Given the description of an element on the screen output the (x, y) to click on. 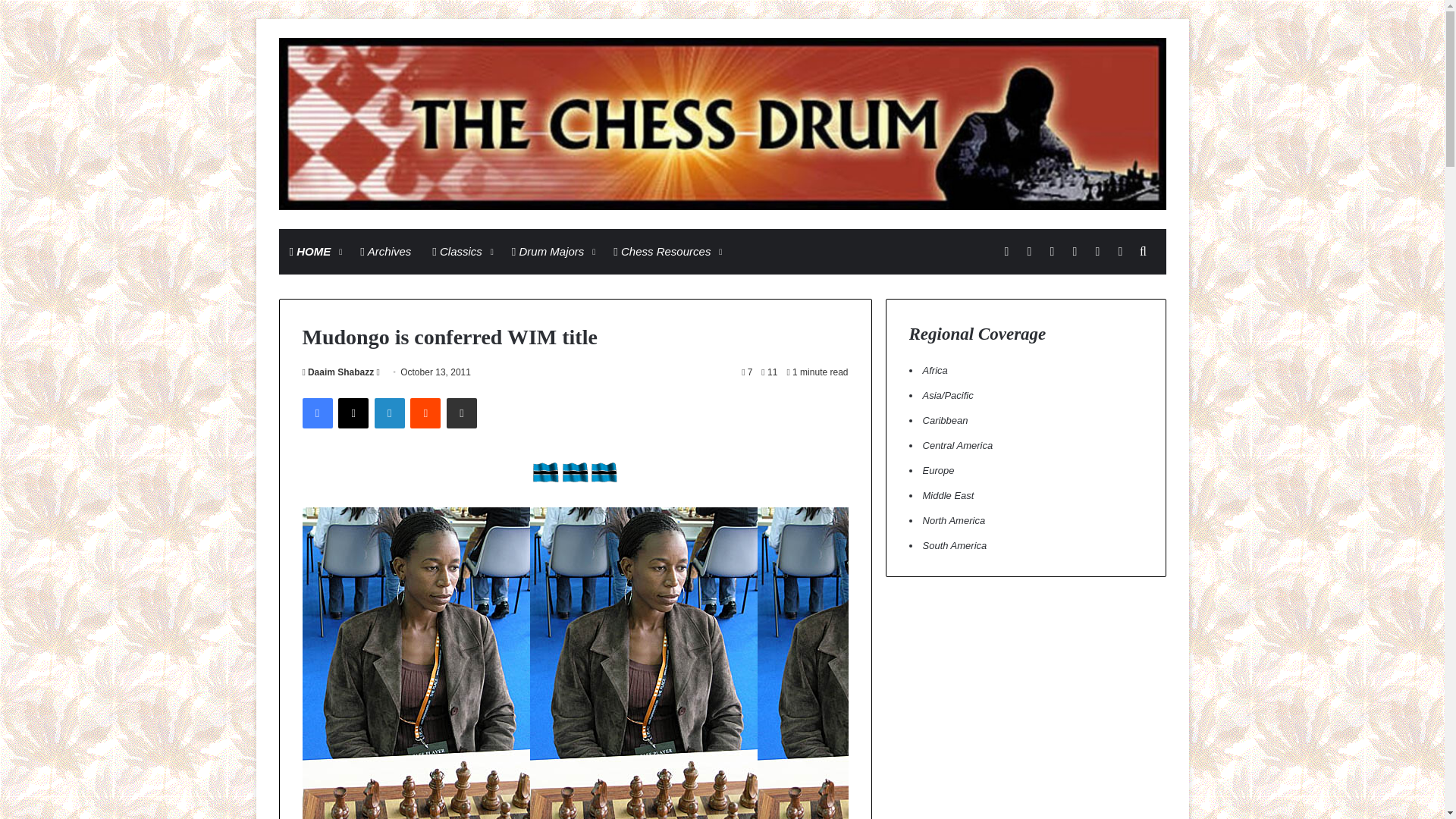
Archives (385, 251)
Daaim Shabazz (337, 371)
Share via Email (461, 413)
Share via Email (461, 413)
Facebook (316, 413)
Facebook (316, 413)
X (352, 413)
X (352, 413)
LinkedIn (389, 413)
